Given the description of an element on the screen output the (x, y) to click on. 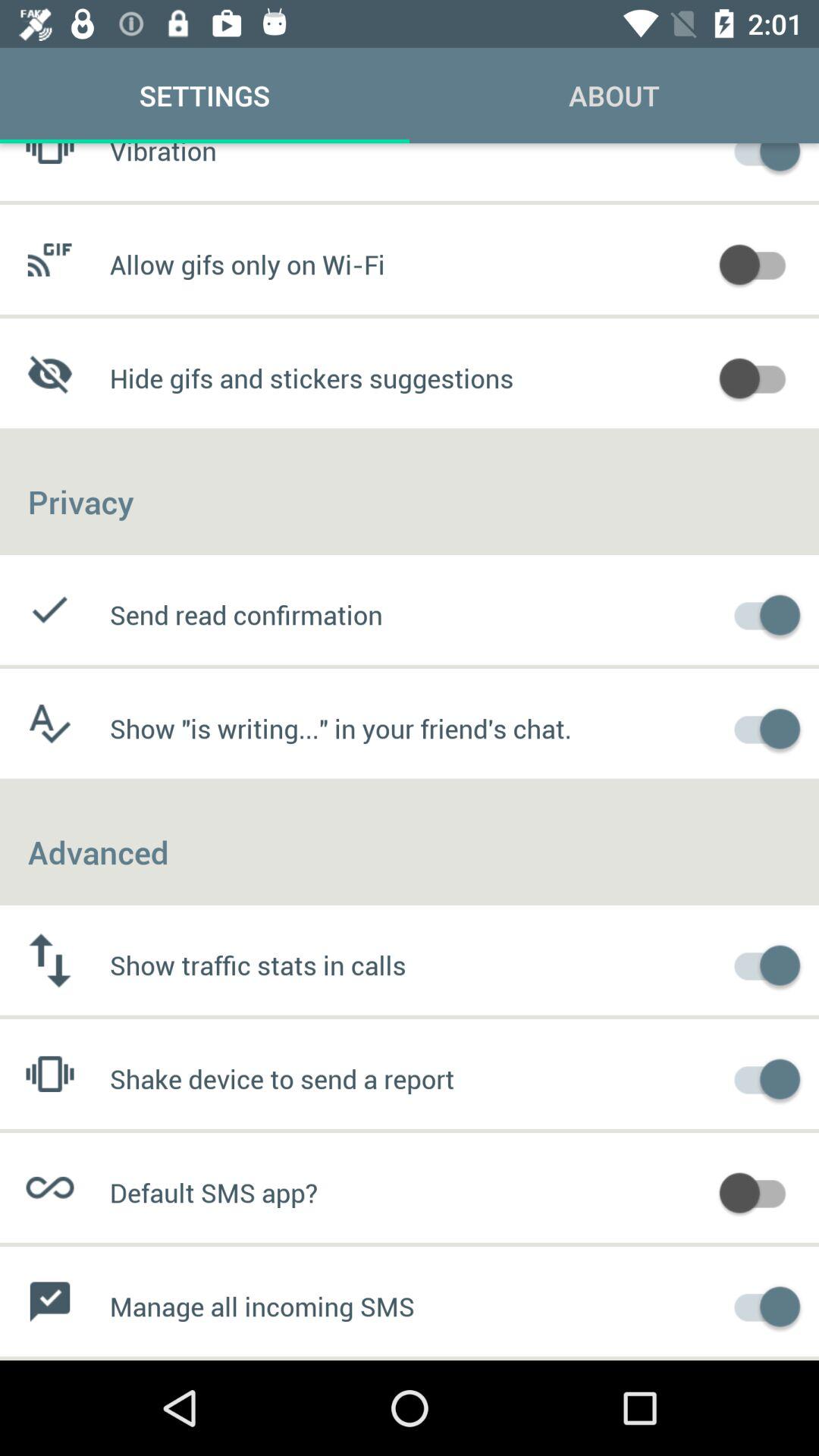
switch autoplay option (759, 376)
